Given the description of an element on the screen output the (x, y) to click on. 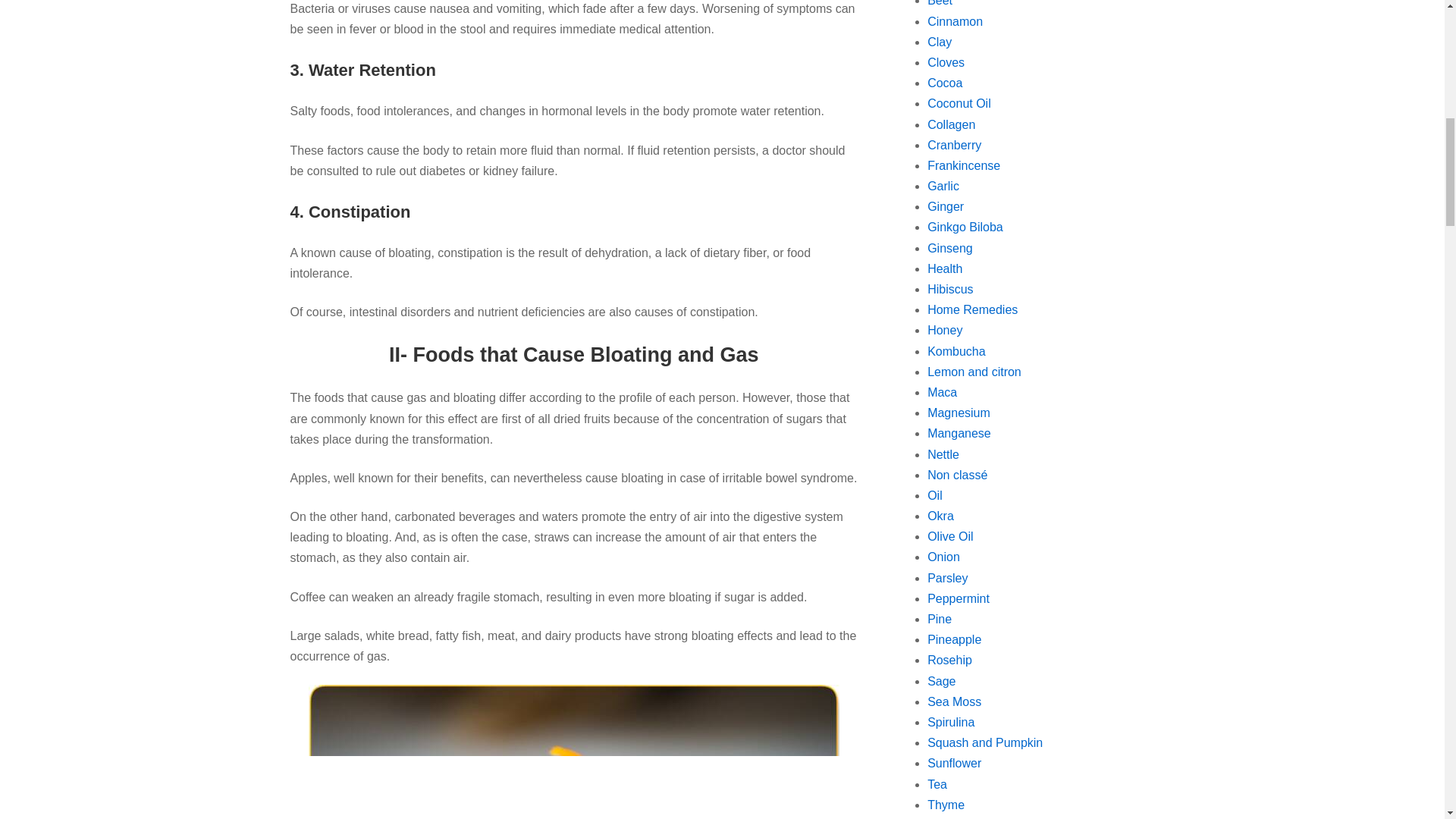
Garlic (943, 185)
Cloves (945, 62)
Cocoa (944, 82)
Frankincense (963, 164)
Clay (939, 42)
Cinnamon (954, 21)
Ginger (945, 205)
Cranberry (954, 144)
Beet (939, 3)
